Given the description of an element on the screen output the (x, y) to click on. 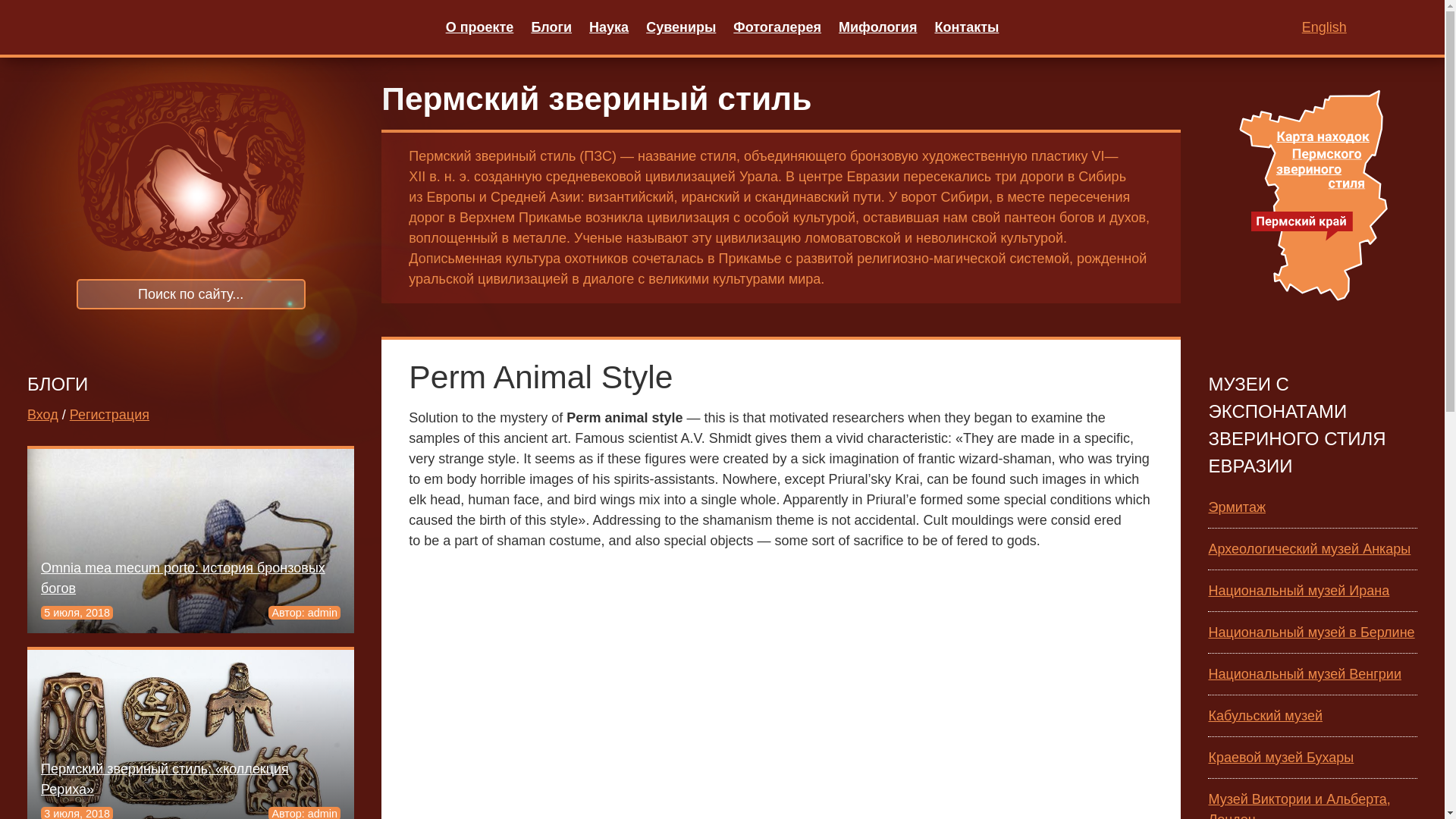
YouTube video player (780, 690)
English (1323, 27)
